Given the description of an element on the screen output the (x, y) to click on. 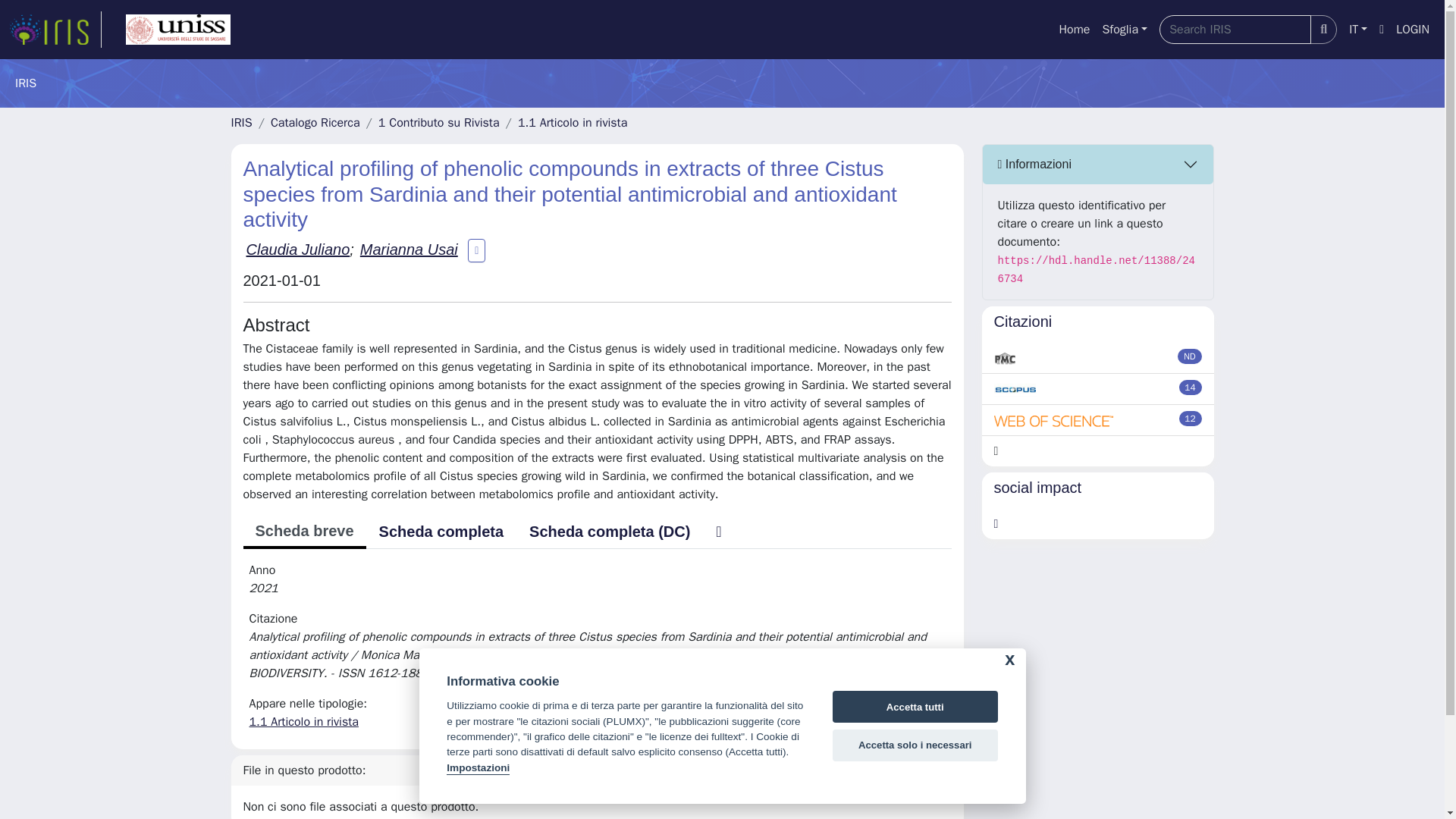
IT (1357, 29)
1 Contributo su Rivista (438, 122)
IRIS (240, 122)
Claudia Juliano (297, 248)
Scheda completa (441, 531)
 Informazioni (1097, 164)
Home (1074, 29)
1.1 Articolo in rivista (303, 721)
LOGIN (1412, 29)
Marianna Usai (408, 248)
Sfoglia (1124, 29)
Scheda breve (304, 531)
Catalogo Ricerca (314, 122)
1.1 Articolo in rivista (572, 122)
